Given the description of an element on the screen output the (x, y) to click on. 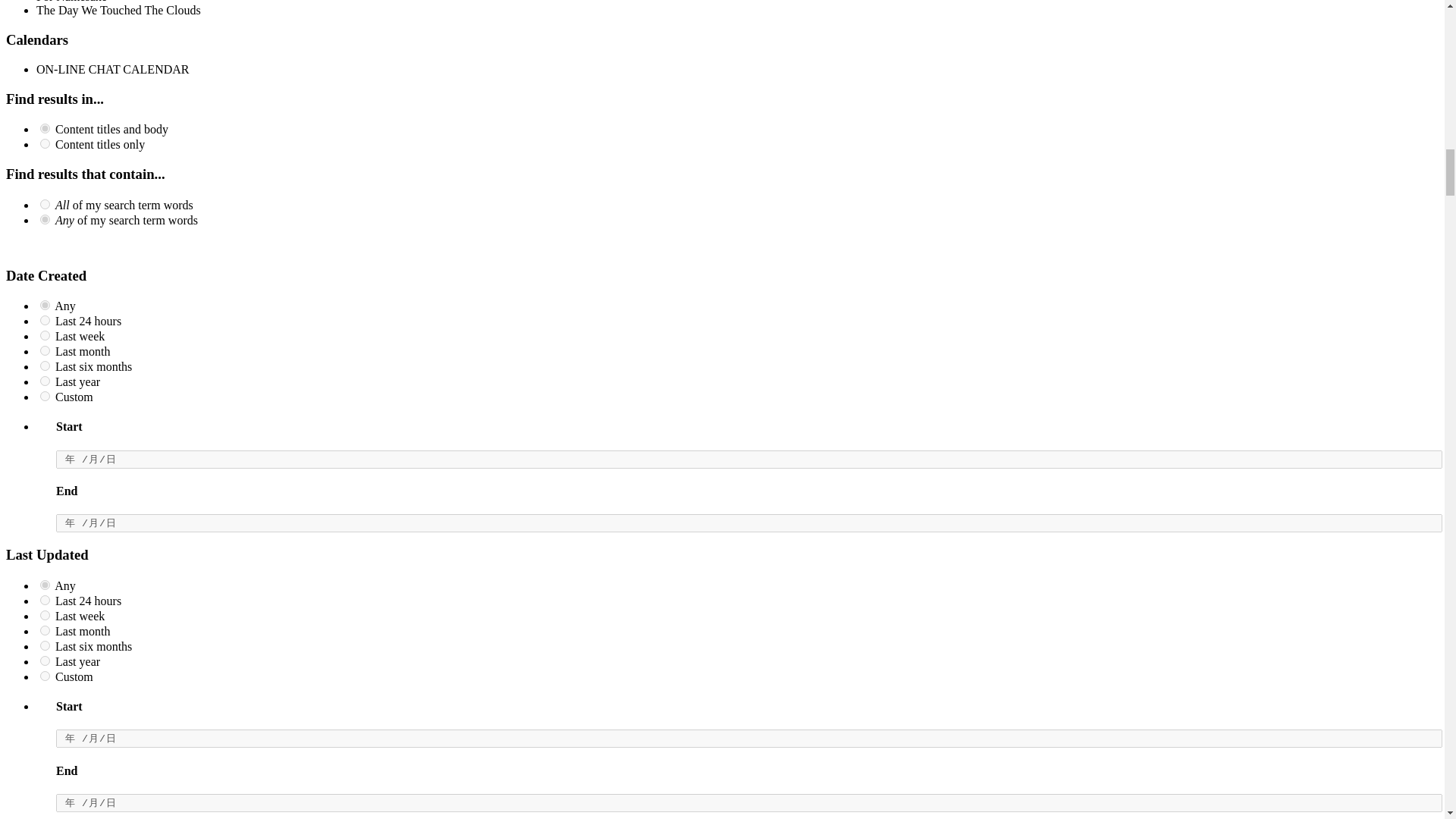
all (44, 128)
